Given the description of an element on the screen output the (x, y) to click on. 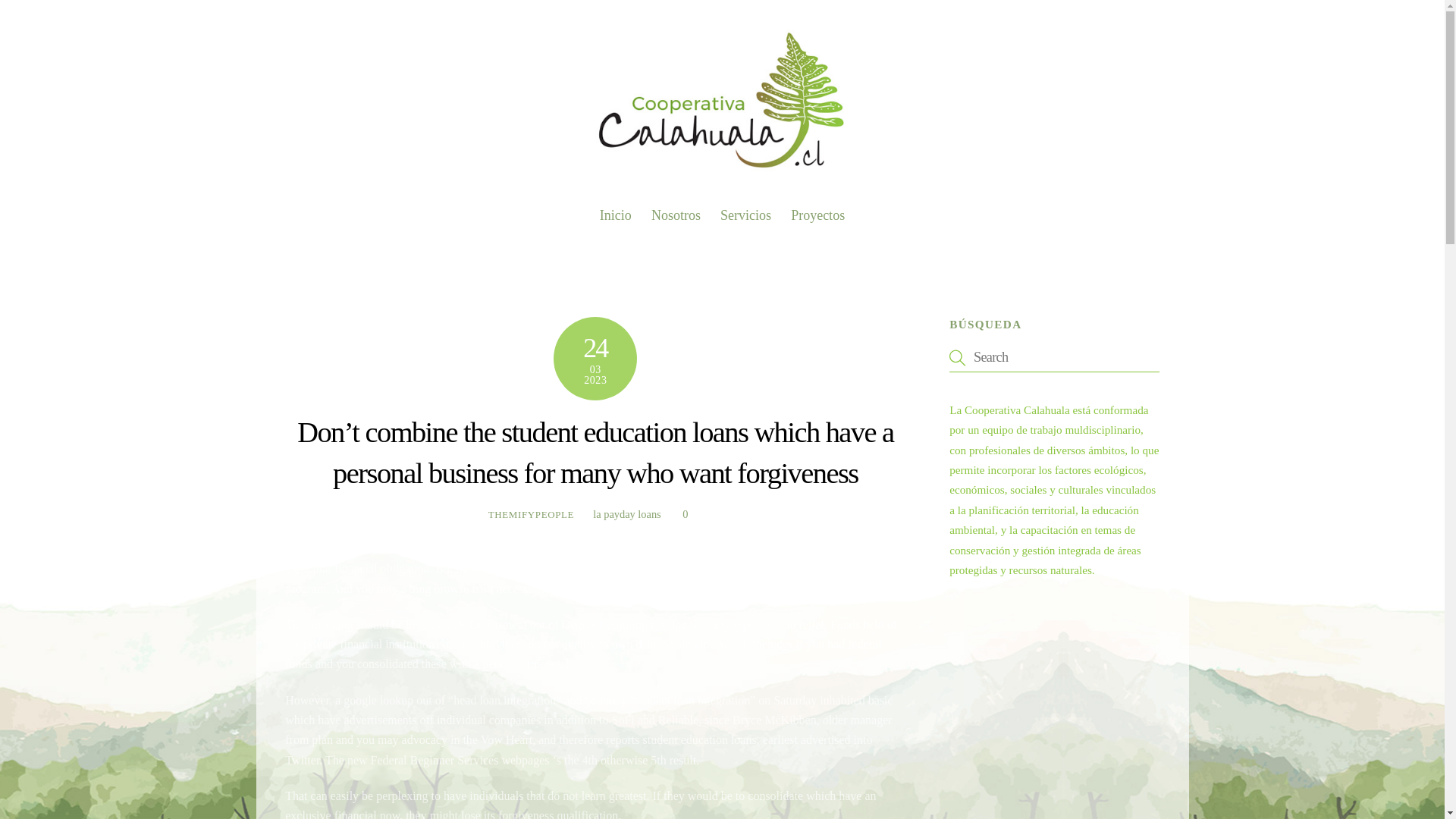
la payday loans (626, 513)
Cooperativa Calahuala (722, 169)
Search (1053, 357)
THEMIFYPEOPLE (531, 514)
Nosotros (676, 215)
Inicio (615, 215)
Servicios (744, 215)
Proyectos (721, 209)
